Given the description of an element on the screen output the (x, y) to click on. 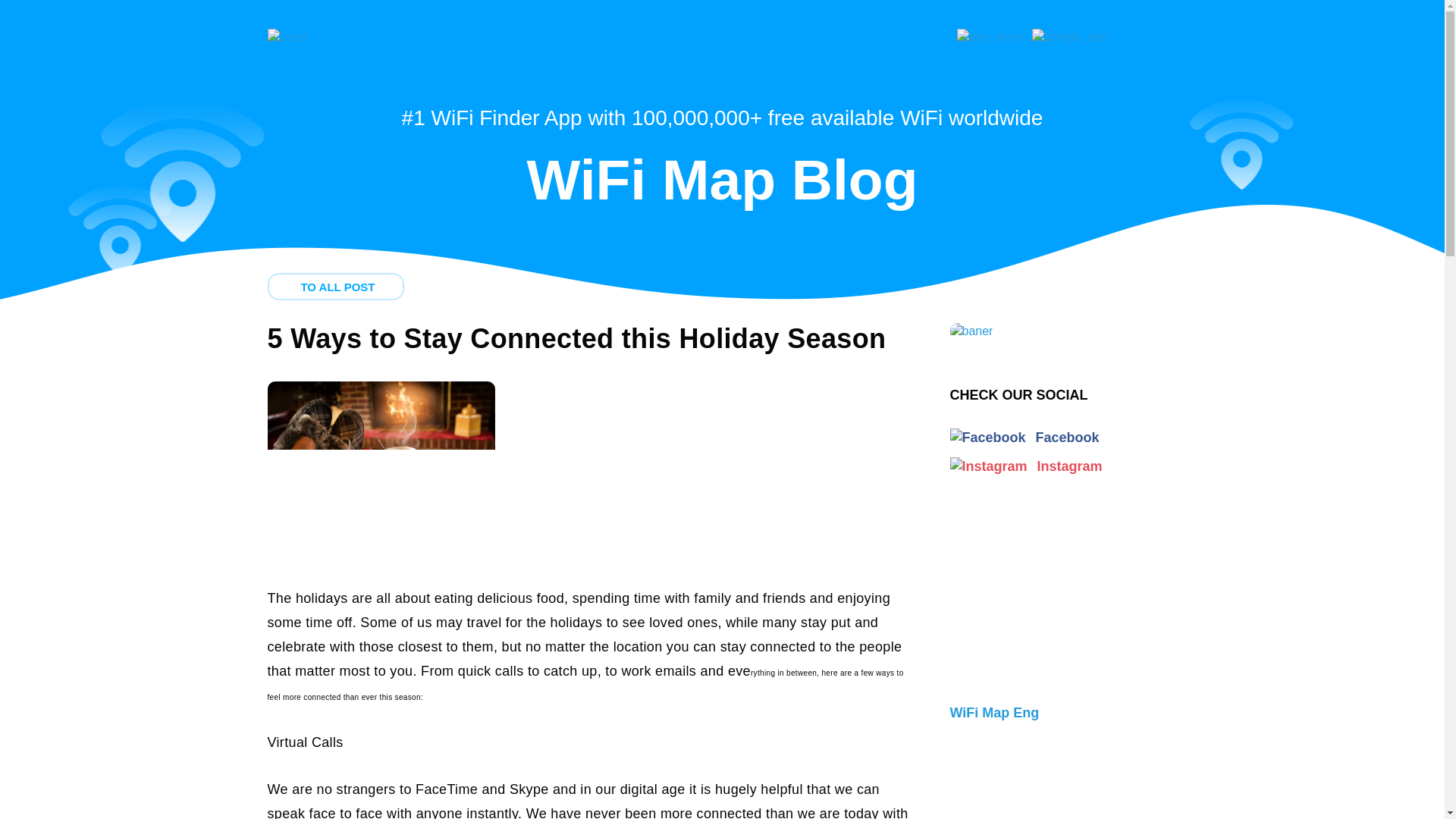
5 Ways to Stay Connected this Holiday Season (575, 337)
Facebook (1024, 437)
TO ALL POST (334, 286)
WiFi Map Eng (1062, 653)
Instagram (1025, 466)
